Given the description of an element on the screen output the (x, y) to click on. 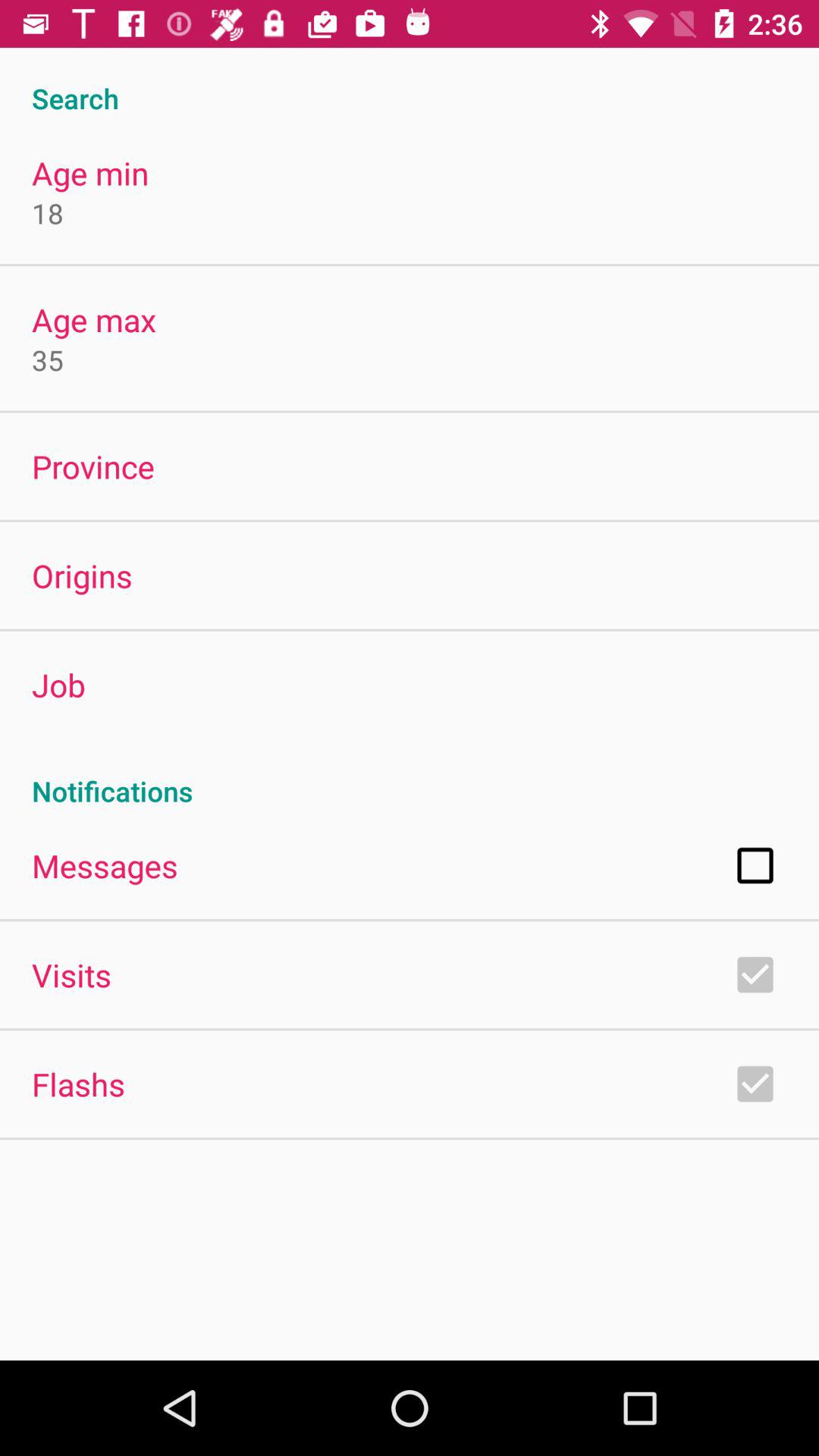
press app above the province item (47, 359)
